Given the description of an element on the screen output the (x, y) to click on. 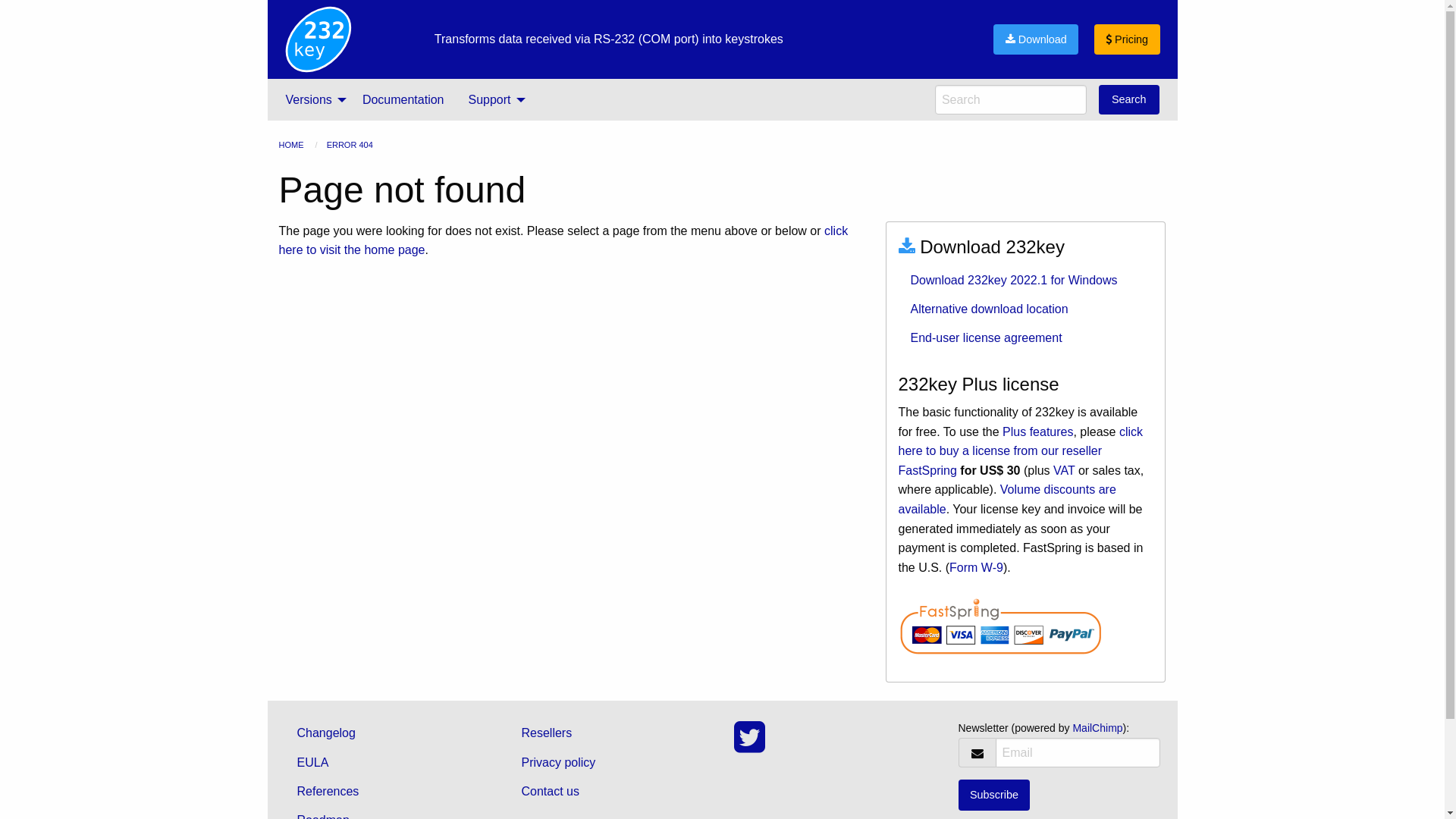
Documentation Element type: text (403, 98)
Volume discounts are available Element type: text (1006, 499)
Contact us Element type: text (610, 791)
Download 232key 2022.1 for Windows Element type: text (1024, 279)
Alternative download location Element type: text (1024, 308)
Resellers Element type: text (610, 732)
Plus features Element type: text (1037, 431)
MailChimp Element type: text (1097, 727)
Support Element type: text (492, 98)
CURRENT:
ERROR 404 Element type: text (349, 144)
Subscribe Element type: text (994, 794)
Search Element type: text (1128, 99)
HOME Element type: text (291, 144)
Versions Element type: text (311, 98)
Form W-9 Element type: text (976, 567)
Privacy policy Element type: text (610, 761)
EULA Element type: text (385, 761)
VAT Element type: text (1063, 470)
End-user license agreement Element type: text (1024, 337)
Changelog Element type: text (385, 732)
Follow Smartlux on Twitter Element type: hover (749, 745)
Pricing Element type: text (1127, 39)
Download Element type: text (1035, 39)
References Element type: text (385, 791)
click here to buy a license from our reseller FastSpring Element type: text (1019, 450)
click here to visit the home page Element type: text (563, 240)
